Given the description of an element on the screen output the (x, y) to click on. 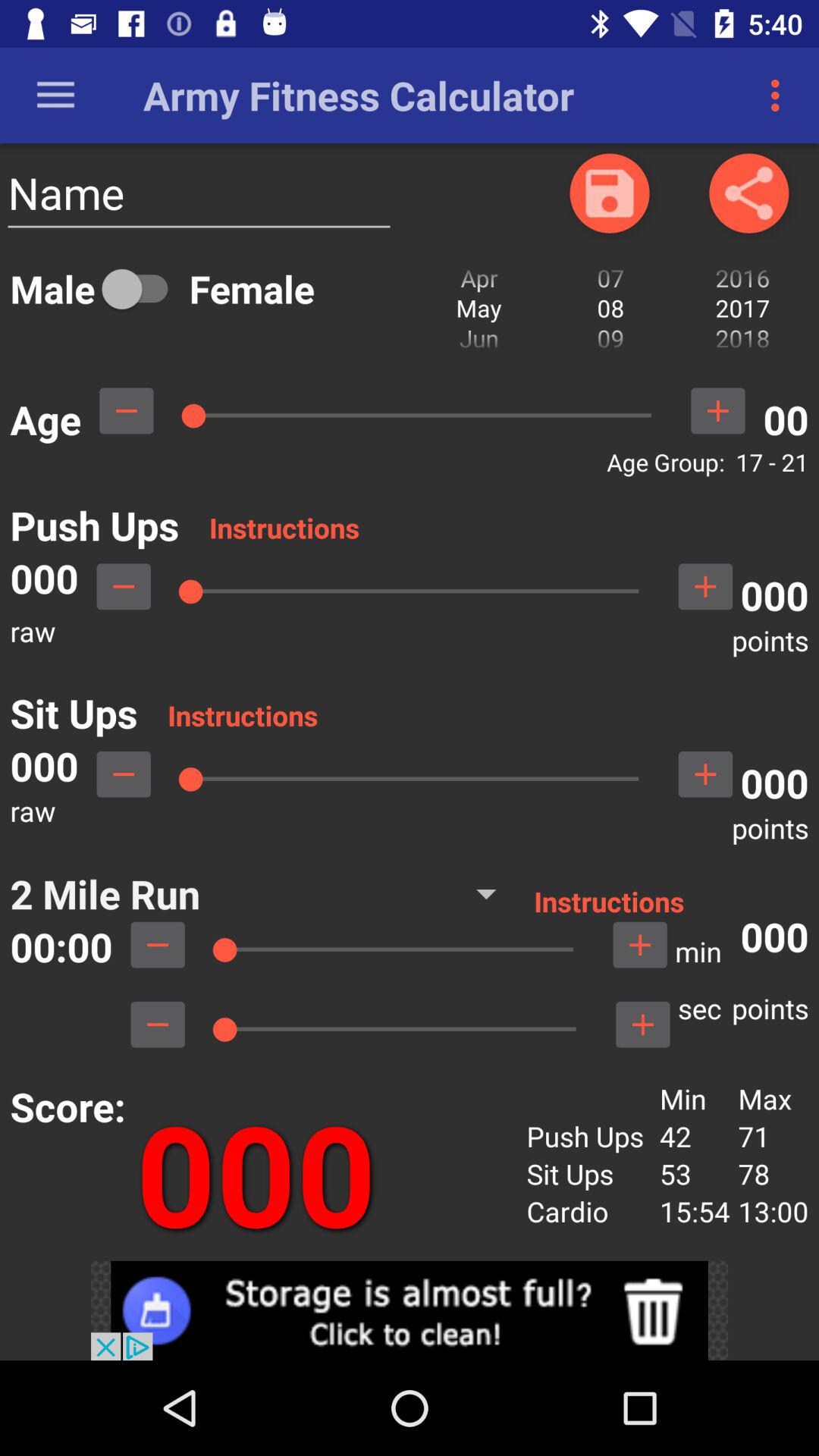
add points to push ups (705, 586)
